Given the description of an element on the screen output the (x, y) to click on. 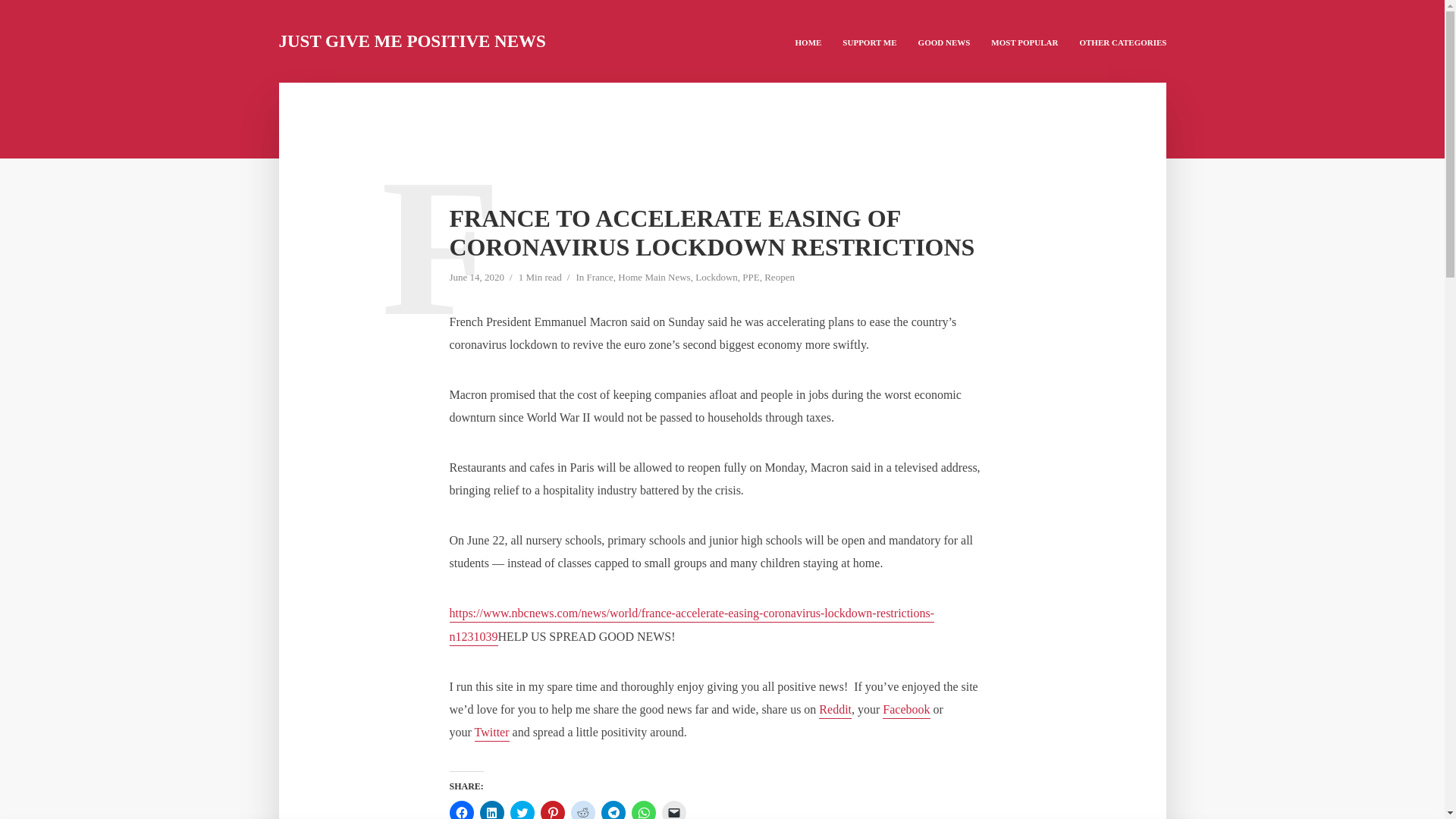
Click to share on WhatsApp (642, 809)
France (599, 278)
Click to share on Facebook (460, 809)
Click to share on Telegram (611, 809)
Click to email a link to a friend (673, 809)
Click to share on LinkedIn (491, 809)
Lockdown (716, 278)
JUST GIVE ME POSITIVE NEWS (412, 40)
SUPPORT ME (869, 41)
Click to share on Pinterest (552, 809)
HOME (808, 41)
MOST POPULAR (1023, 41)
Click to share on Twitter (521, 809)
GOOD NEWS (944, 41)
OTHER CATEGORIES (1122, 41)
